Given the description of an element on the screen output the (x, y) to click on. 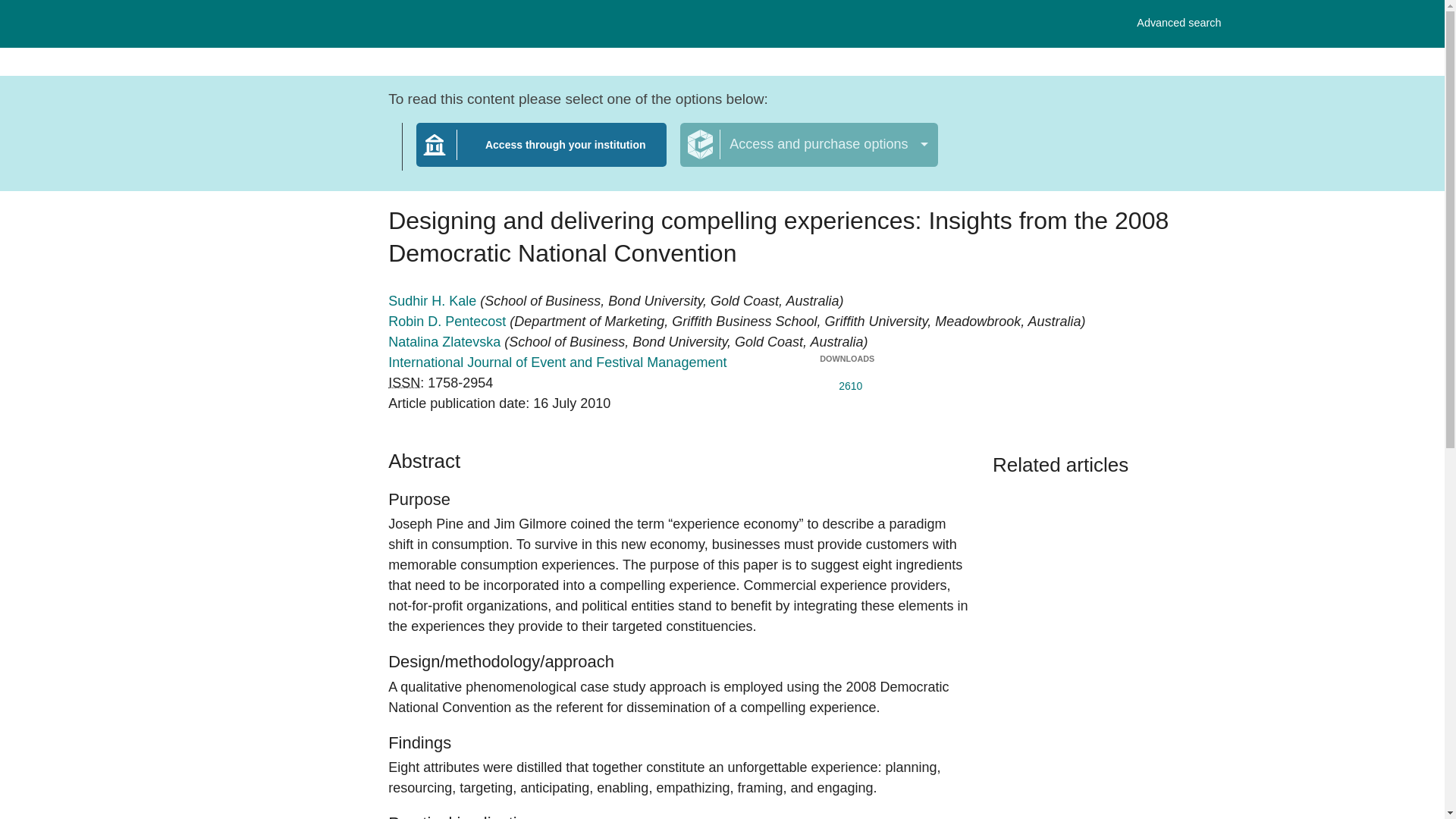
Natalina Zlatevska (1178, 23)
International Journal of Event and Festival Management (445, 341)
This item has been downloaded 2610 times since 2010. (557, 362)
Access through your institution (846, 382)
Sudhir H. Kale (541, 153)
International Standard Serial Number. (434, 300)
Robin D. Pentecost (404, 382)
Access and purchase options (448, 321)
